Given the description of an element on the screen output the (x, y) to click on. 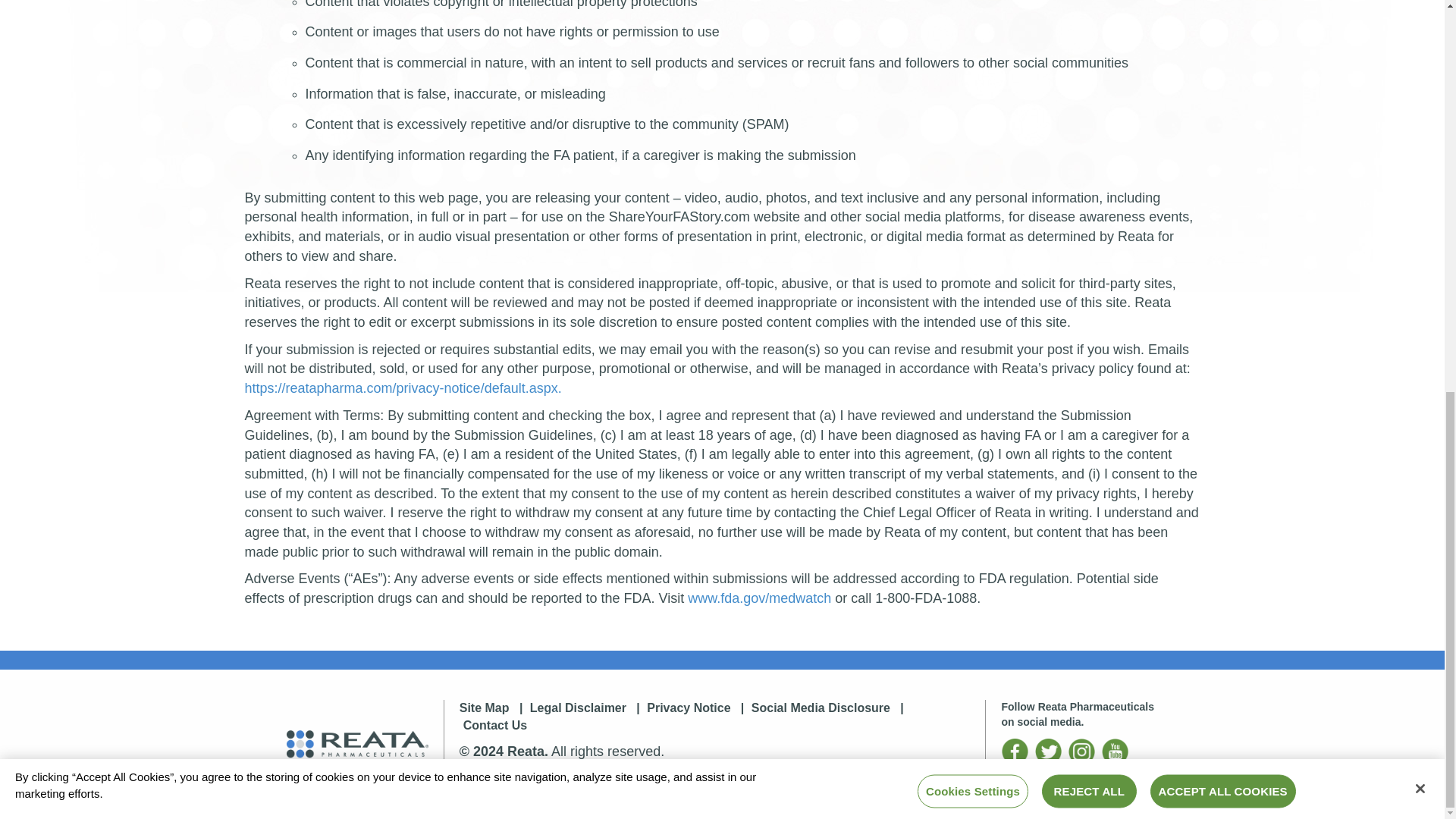
ACCEPT ALL COOKIES (1222, 39)
REJECT ALL (1089, 39)
Cookies Settings (972, 39)
Contact Us (495, 725)
Social Media Disclosure (820, 707)
Site Map (484, 707)
Privacy Notice (688, 707)
Legal Disclaimer (577, 707)
